Given the description of an element on the screen output the (x, y) to click on. 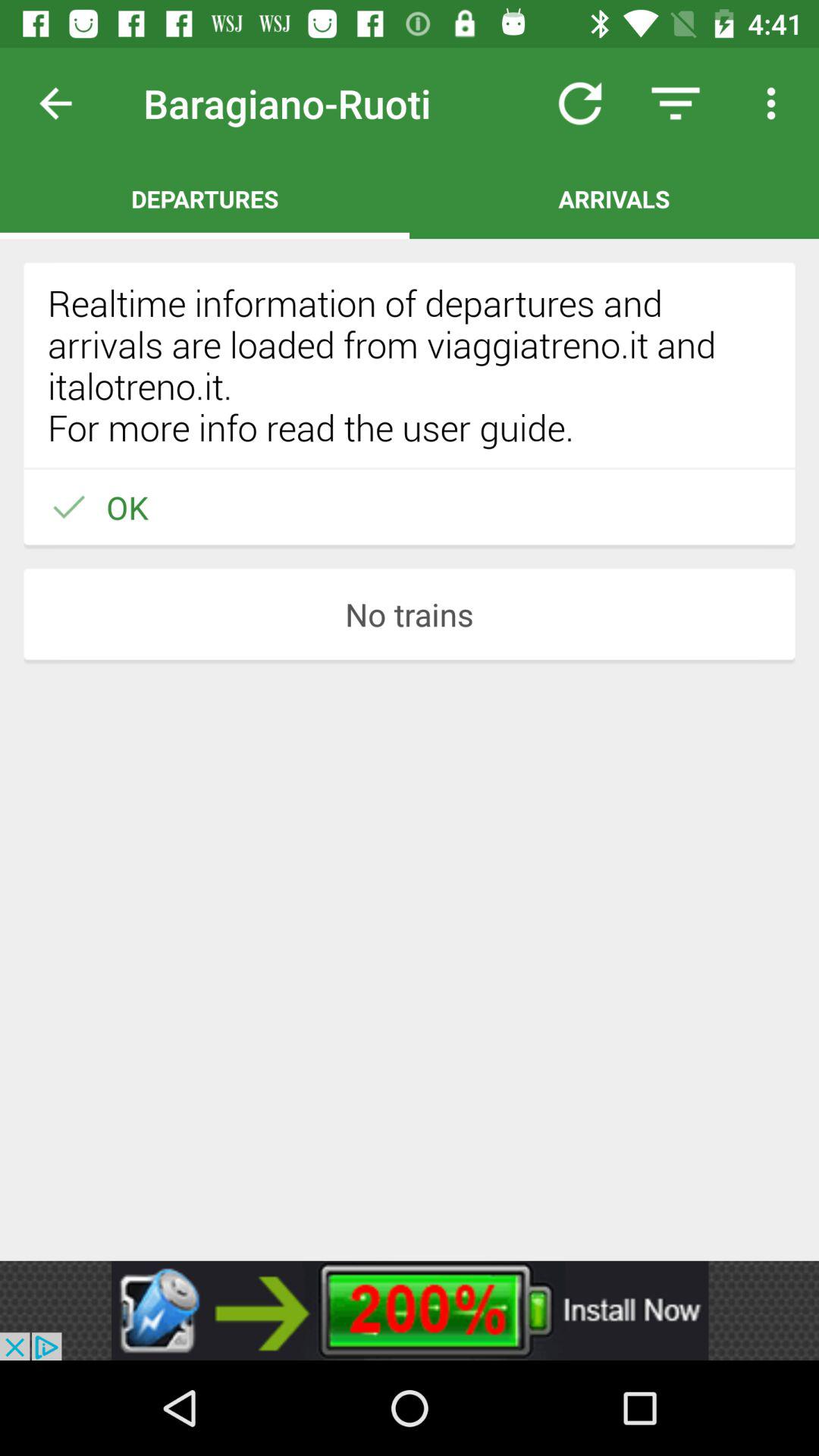
advertisement (409, 1310)
